Given the description of an element on the screen output the (x, y) to click on. 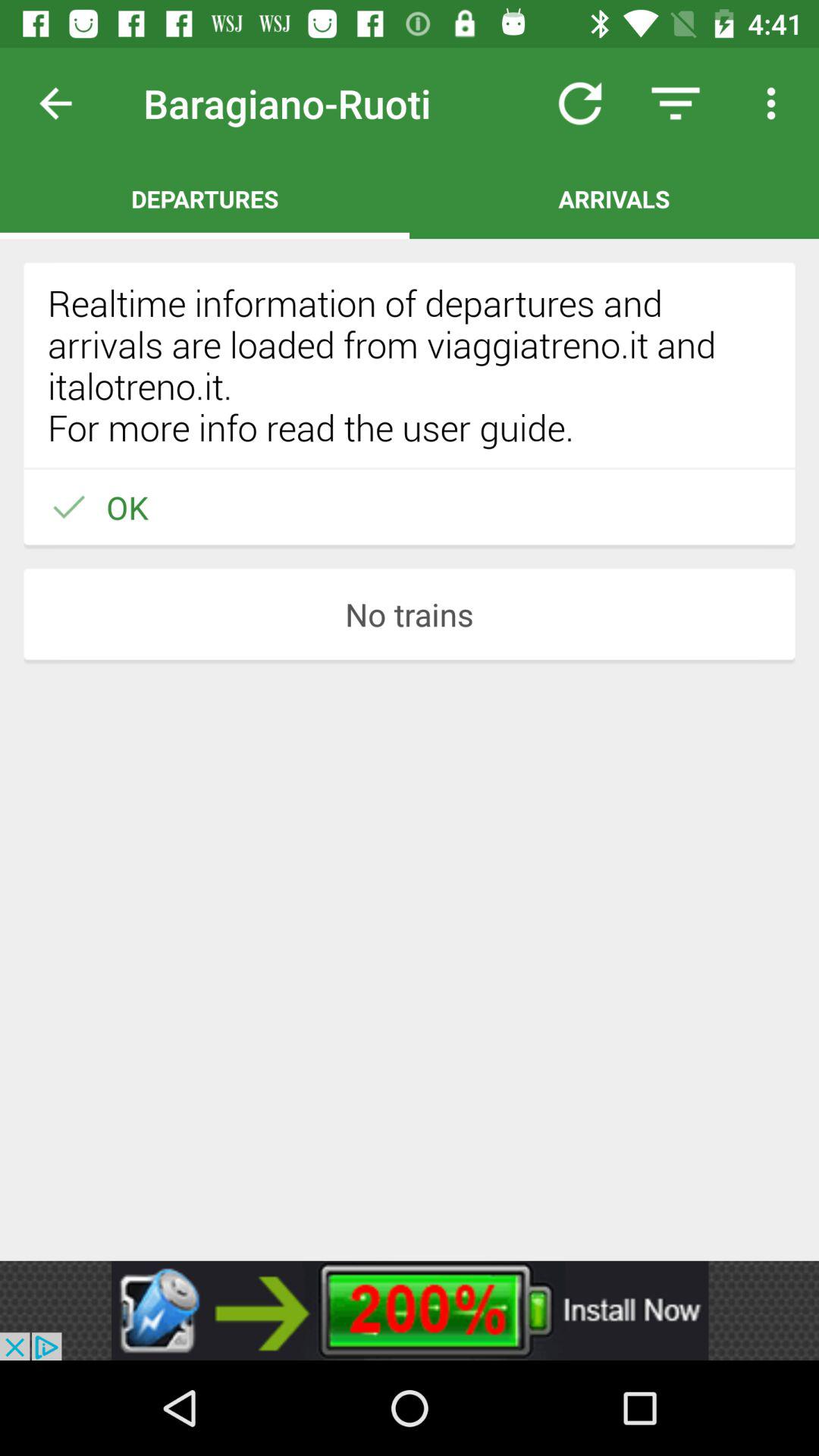
advertisement (409, 1310)
